Given the description of an element on the screen output the (x, y) to click on. 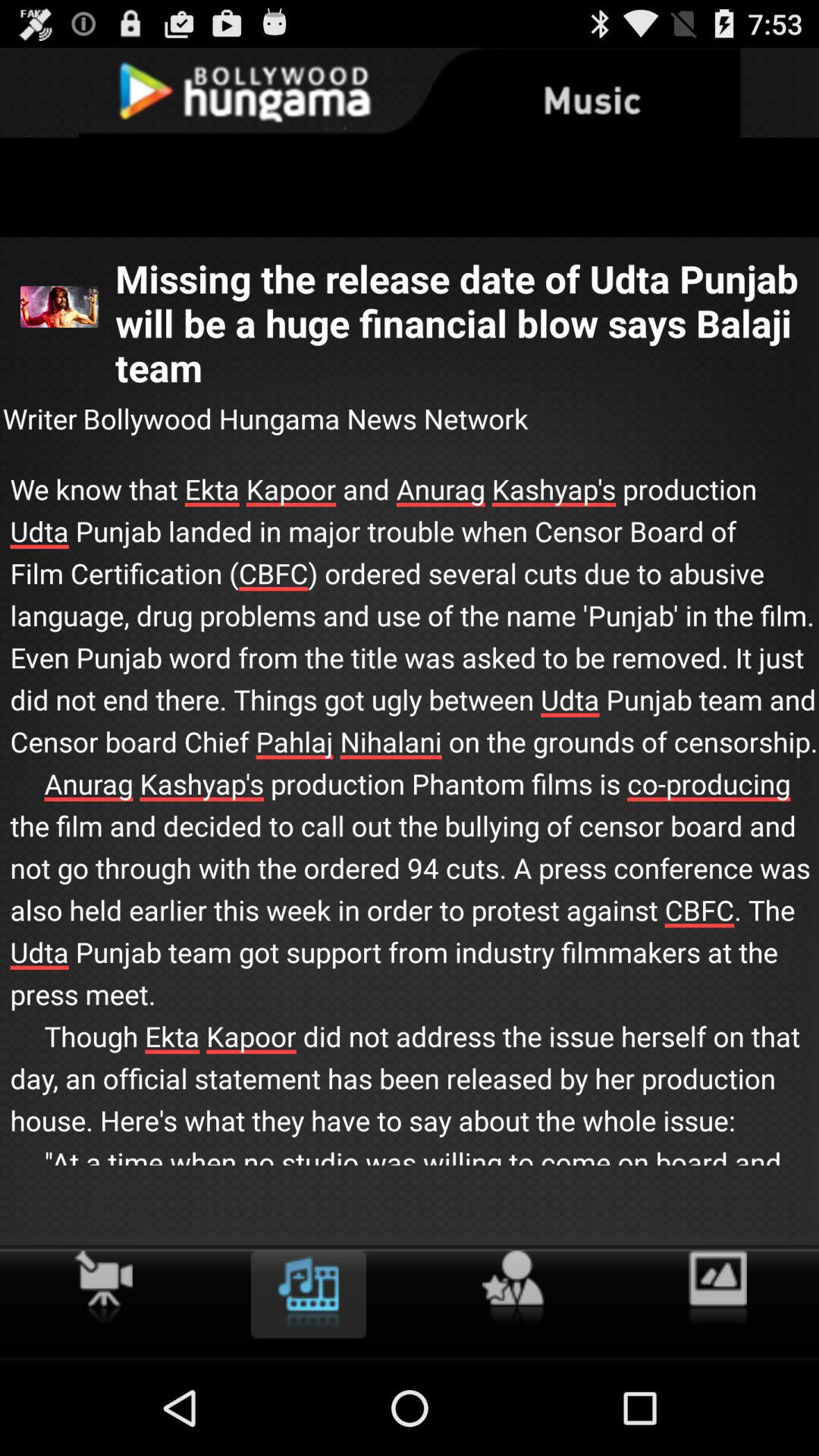
click on the left side adjacent icon of photos (513, 1287)
click on the music icon placed at bottom second option (308, 1294)
click on the video option to the left of movie image icon (103, 1286)
